Given the description of an element on the screen output the (x, y) to click on. 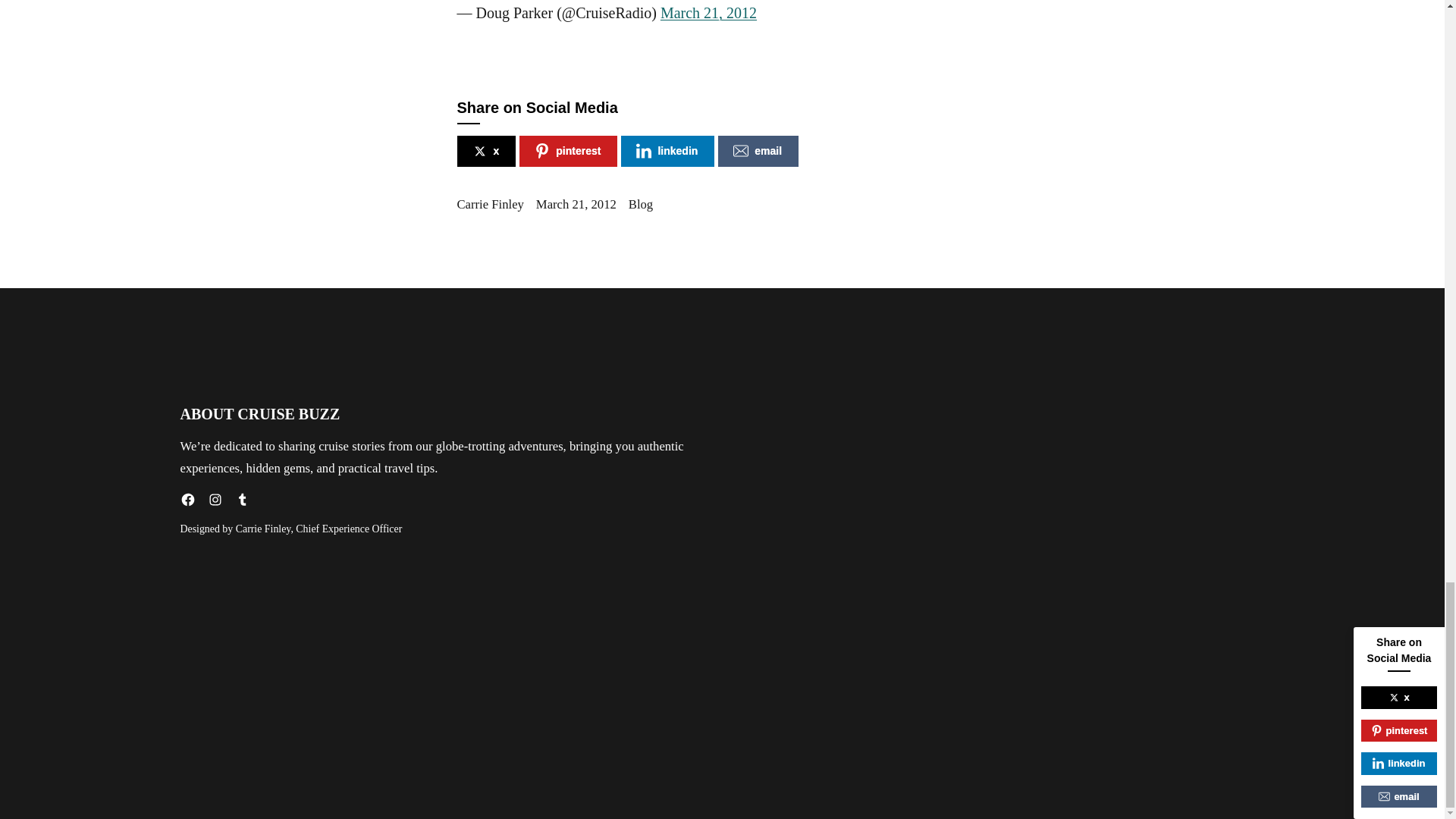
pinterest (568, 151)
x (486, 151)
Carrie Finley (489, 204)
Facebook (187, 499)
March 21, 2012 (575, 204)
Instagram (215, 499)
linkedin (667, 151)
Blog (640, 204)
Tumblr (242, 499)
March 21, 2012 (709, 12)
email (757, 151)
